Given the description of an element on the screen output the (x, y) to click on. 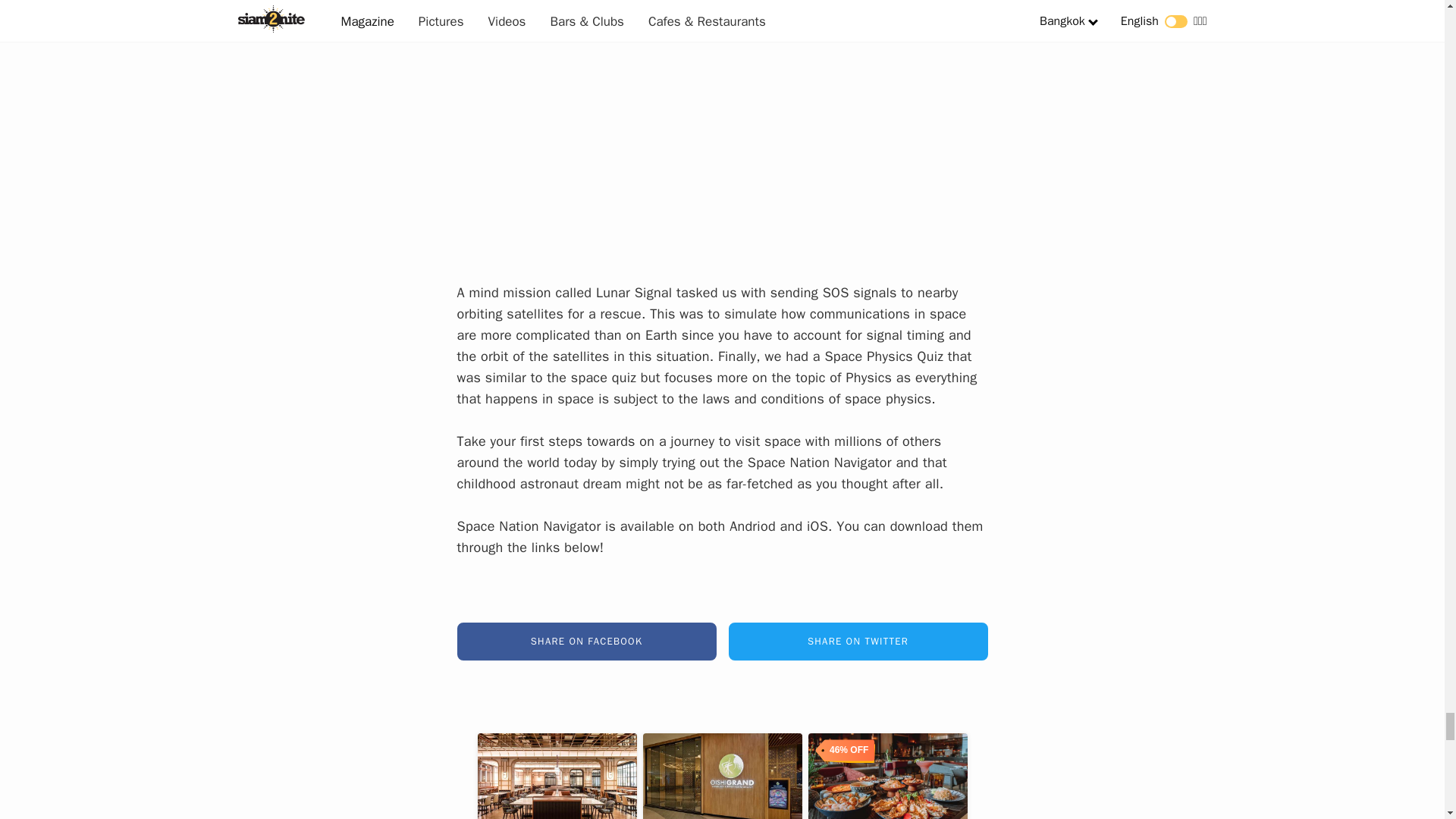
SHARE ON FACEBOOK (586, 641)
SHARE ON TWITTER (857, 641)
